Given the description of an element on the screen output the (x, y) to click on. 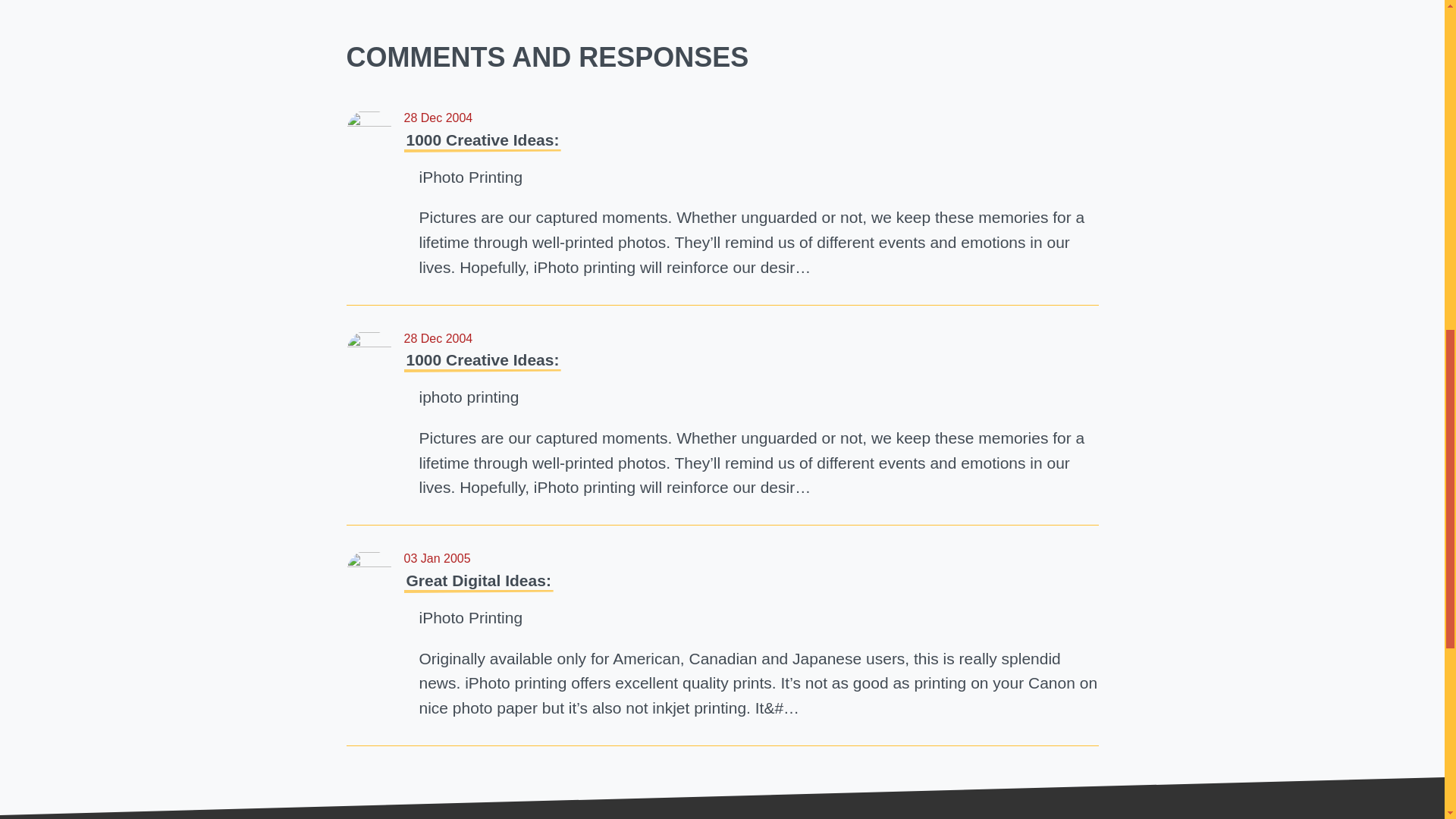
1000 Creative Ideas: (481, 139)
Great Digital Ideas: (478, 580)
1000 Creative Ideas: (481, 359)
